Given the description of an element on the screen output the (x, y) to click on. 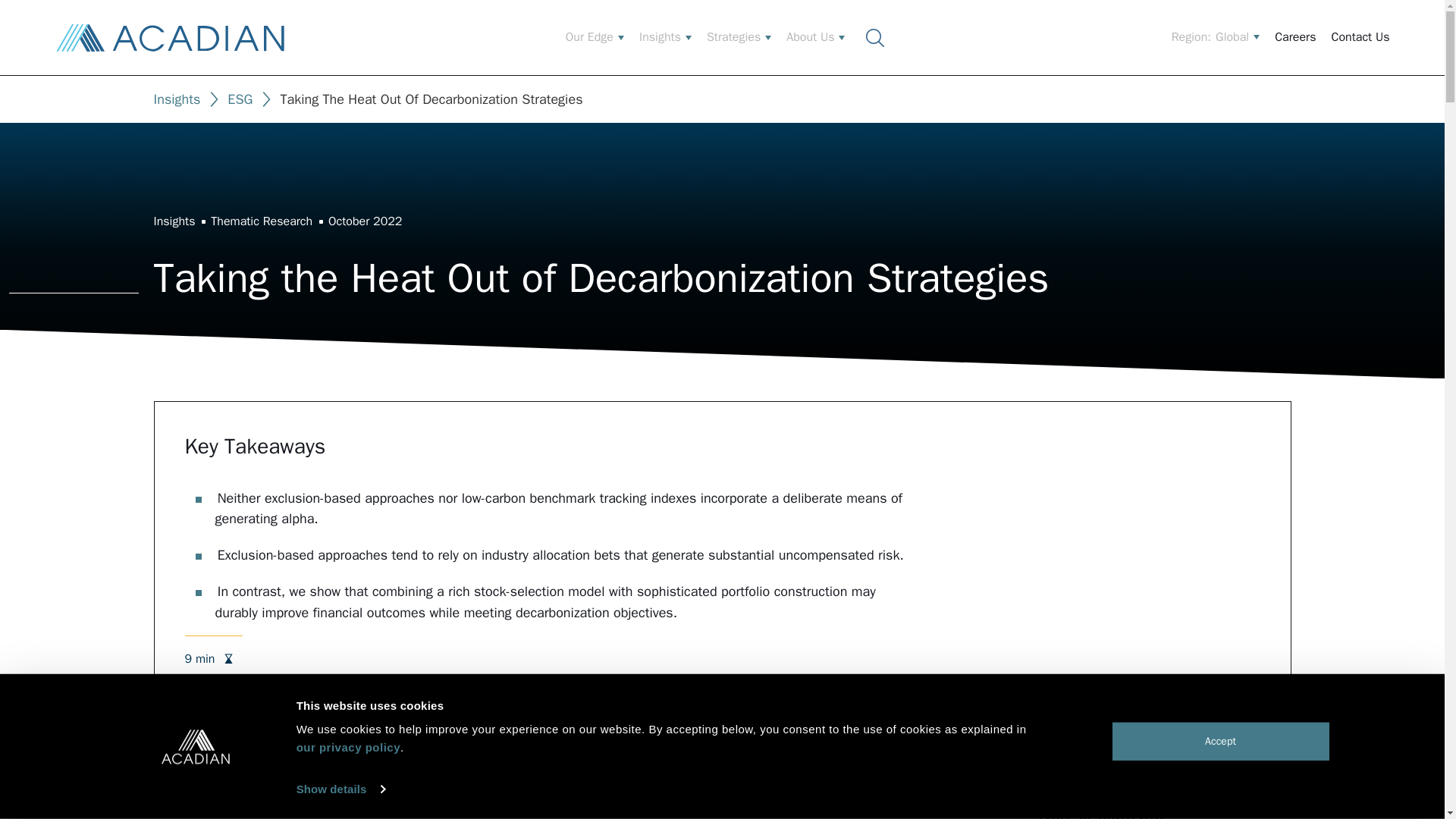
our privacy policy (348, 747)
Show details (340, 789)
